Given the description of an element on the screen output the (x, y) to click on. 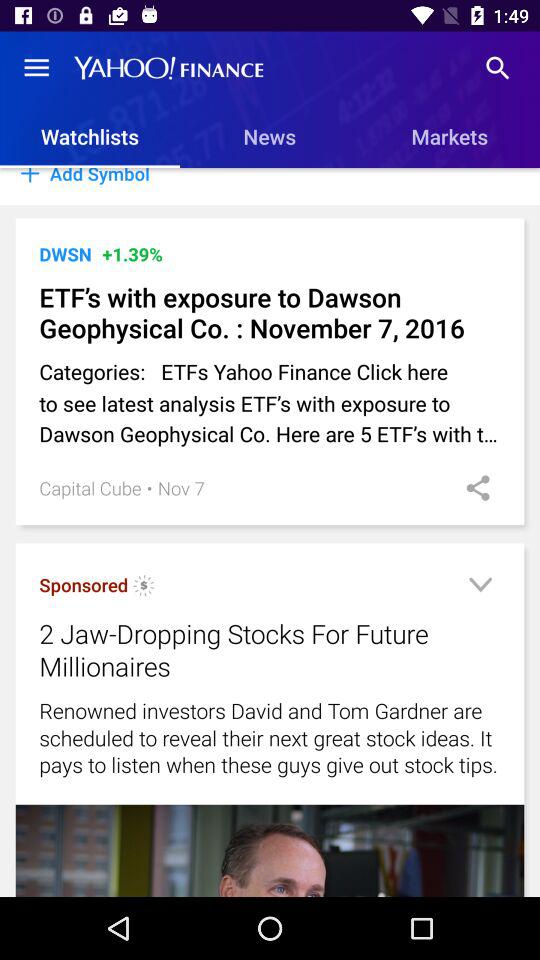
tap icon to the right of the nov 7 icon (471, 488)
